Given the description of an element on the screen output the (x, y) to click on. 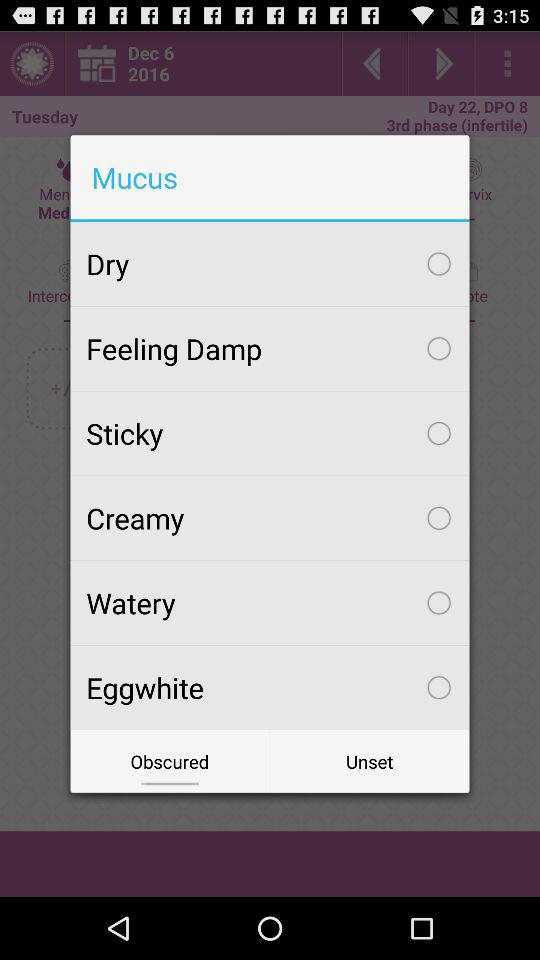
open the checkbox above the feeling damp icon (269, 263)
